Given the description of an element on the screen output the (x, y) to click on. 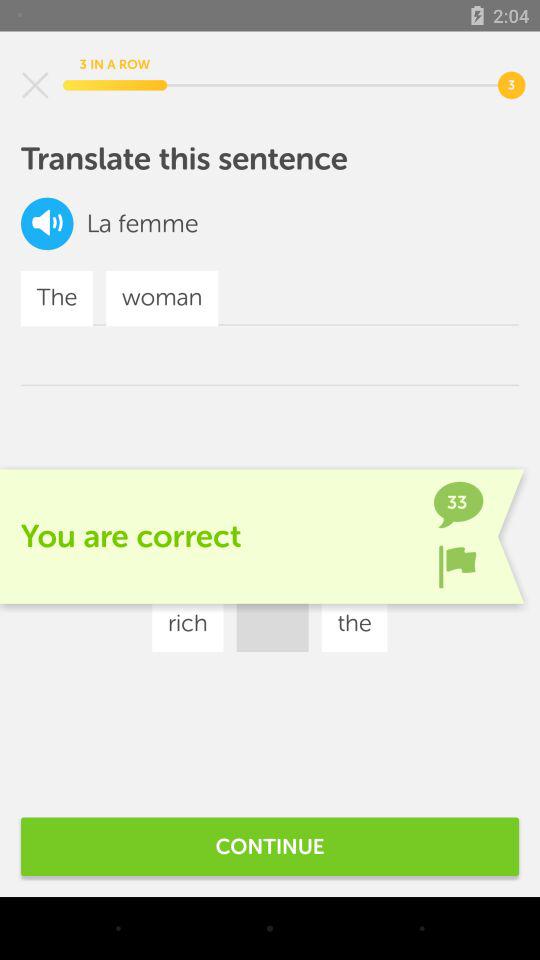
listen to (47, 223)
